Given the description of an element on the screen output the (x, y) to click on. 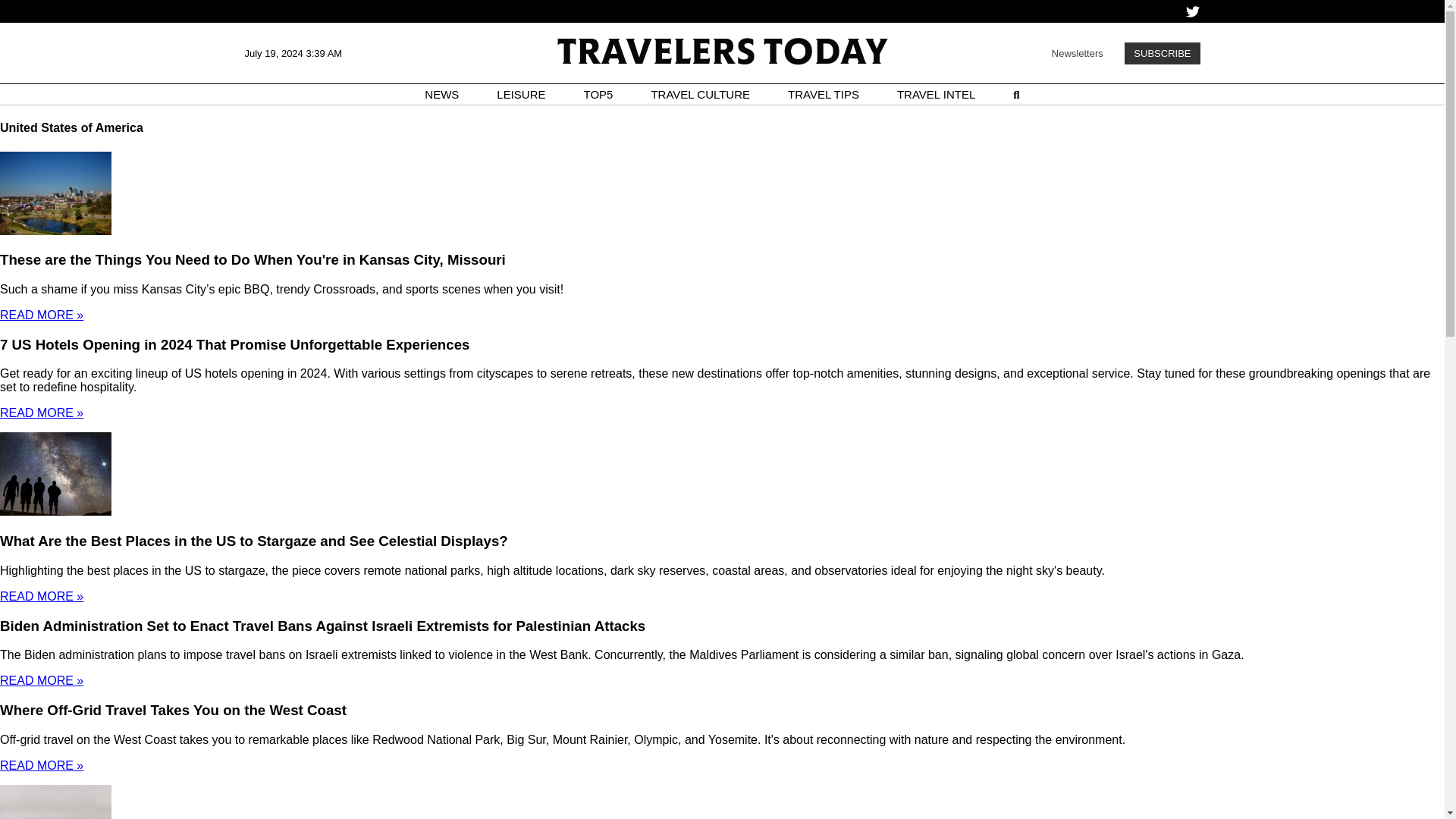
Newsletters (1077, 52)
TRAVEL CULTURE (699, 93)
Where Off-Grid Travel Takes You on the West Coast (173, 709)
TOP5 (597, 93)
TRAVEL TIPS (823, 93)
NEWS (441, 93)
LEISURE (520, 93)
TRAVEL INTEL (935, 93)
SUBSCRIBE (1161, 53)
